Given the description of an element on the screen output the (x, y) to click on. 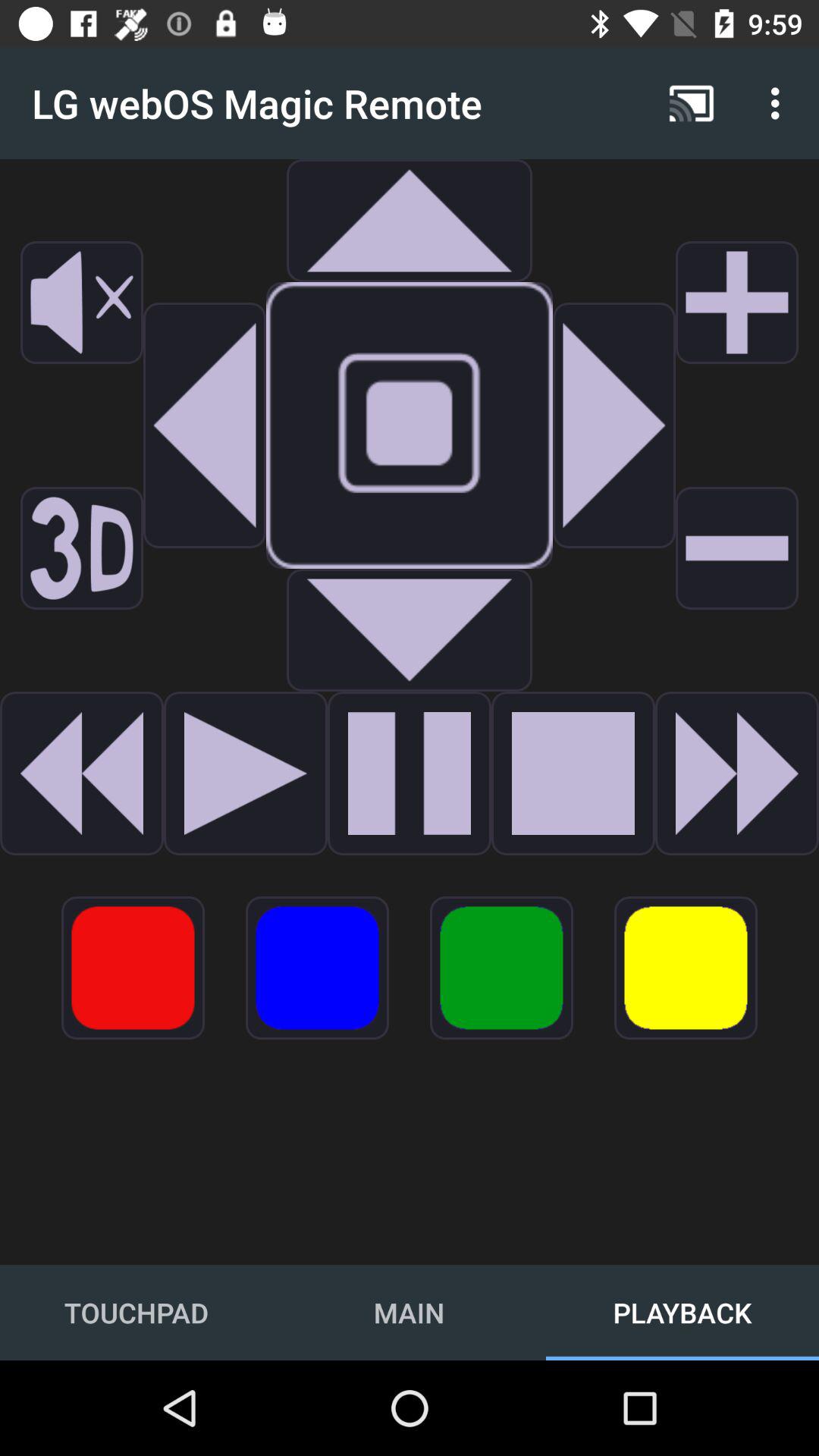
go to next (613, 425)
